Given the description of an element on the screen output the (x, y) to click on. 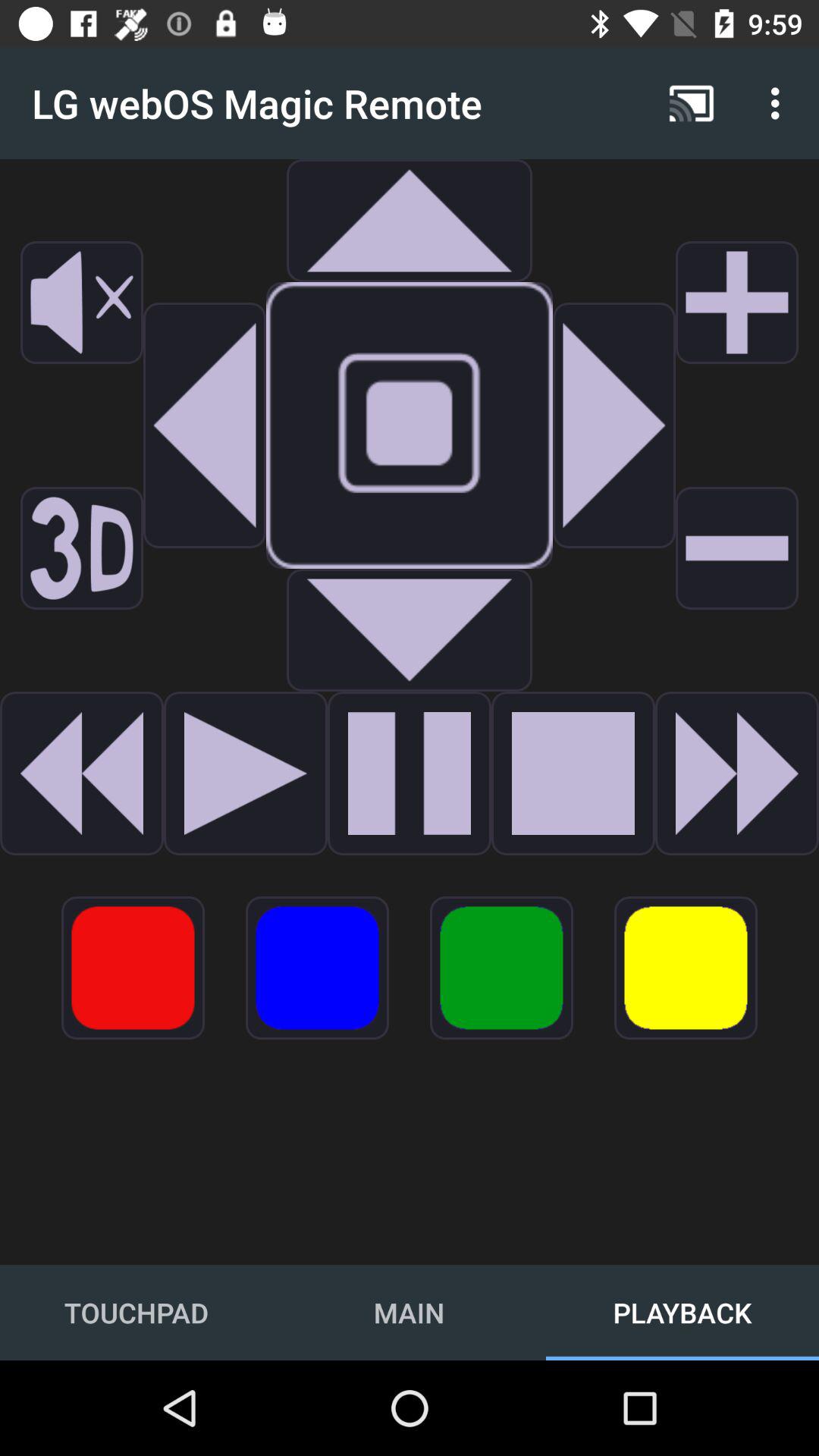
go to next (613, 425)
